Given the description of an element on the screen output the (x, y) to click on. 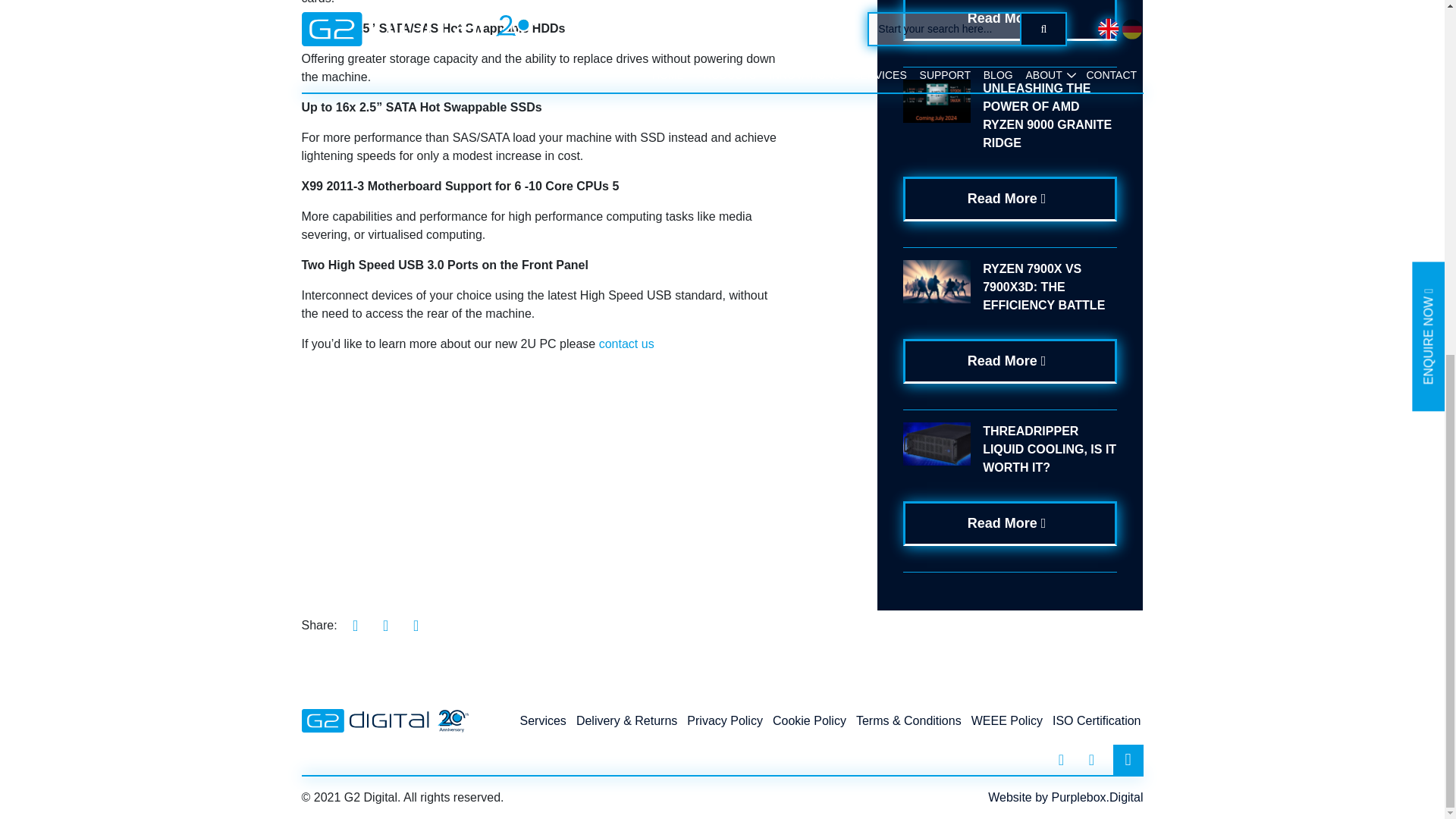
Tweet (386, 625)
Share via email (415, 625)
Share on LinkedIn (355, 625)
